Given the description of an element on the screen output the (x, y) to click on. 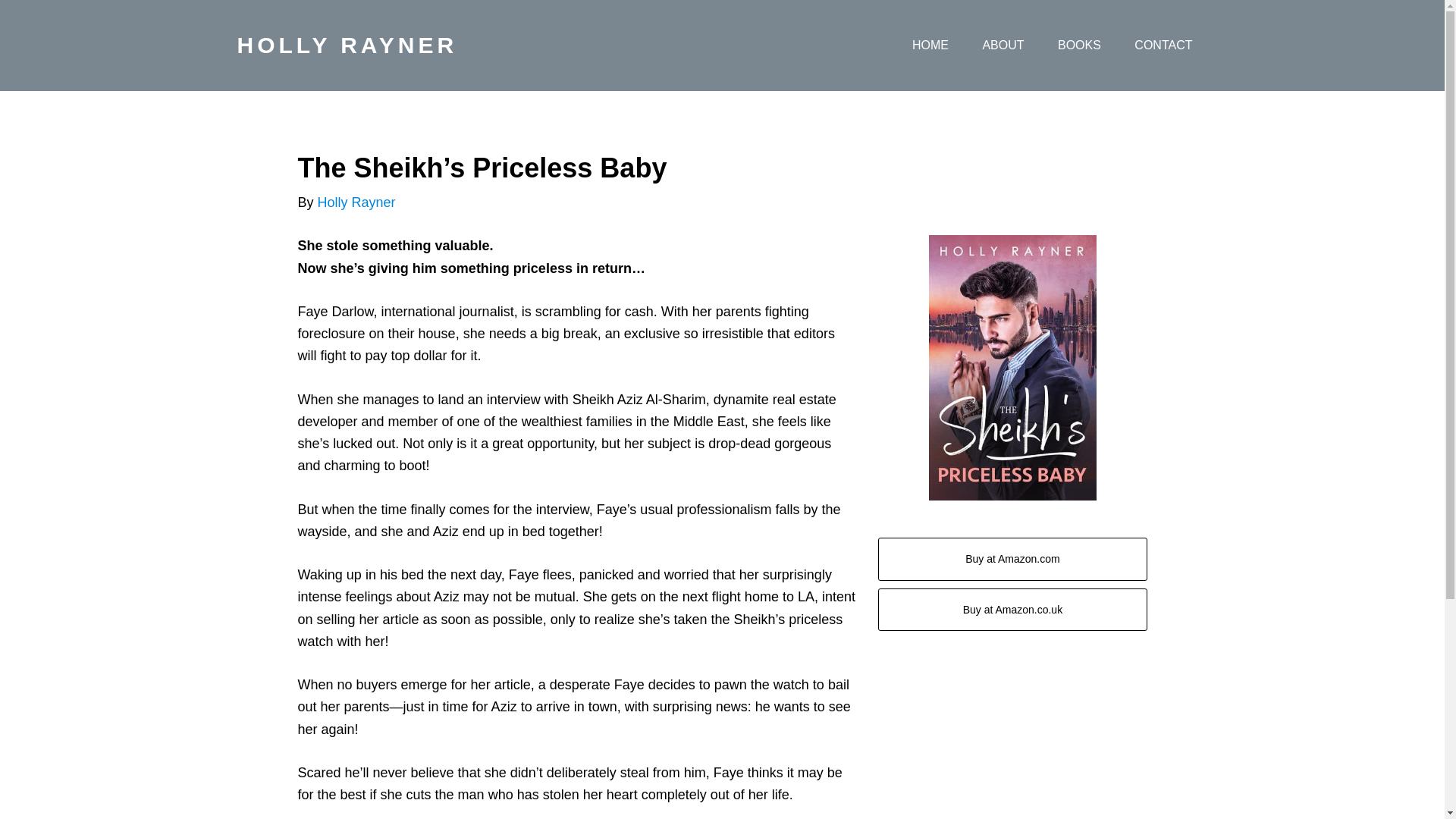
CONTACT (1163, 45)
HOLLY RAYNER (346, 44)
Buy at Amazon.co.uk (1012, 609)
Buy at Amazon.com (1012, 558)
Holly Rayner (356, 201)
